Given the description of an element on the screen output the (x, y) to click on. 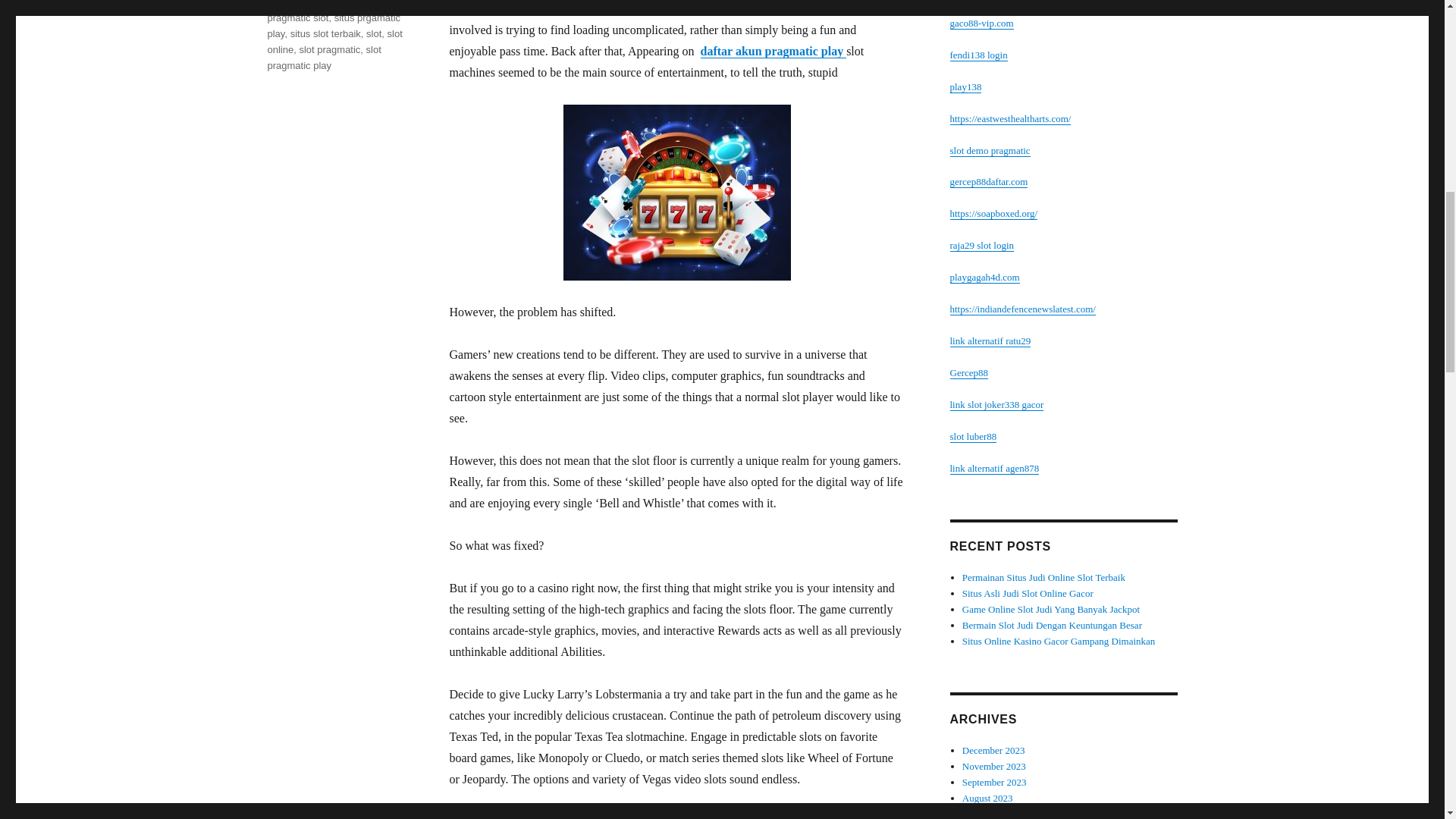
Gercep88 (968, 372)
slot (373, 33)
slot pragmatic (328, 49)
pragmatic slot (297, 17)
situs prgamatic play (333, 25)
daftar akun pragmatic play (773, 51)
pragmatic (288, 3)
pragmatic play (347, 3)
slot online (333, 41)
slot pragmatic play (323, 57)
situs slot terbaik (325, 33)
